Given the description of an element on the screen output the (x, y) to click on. 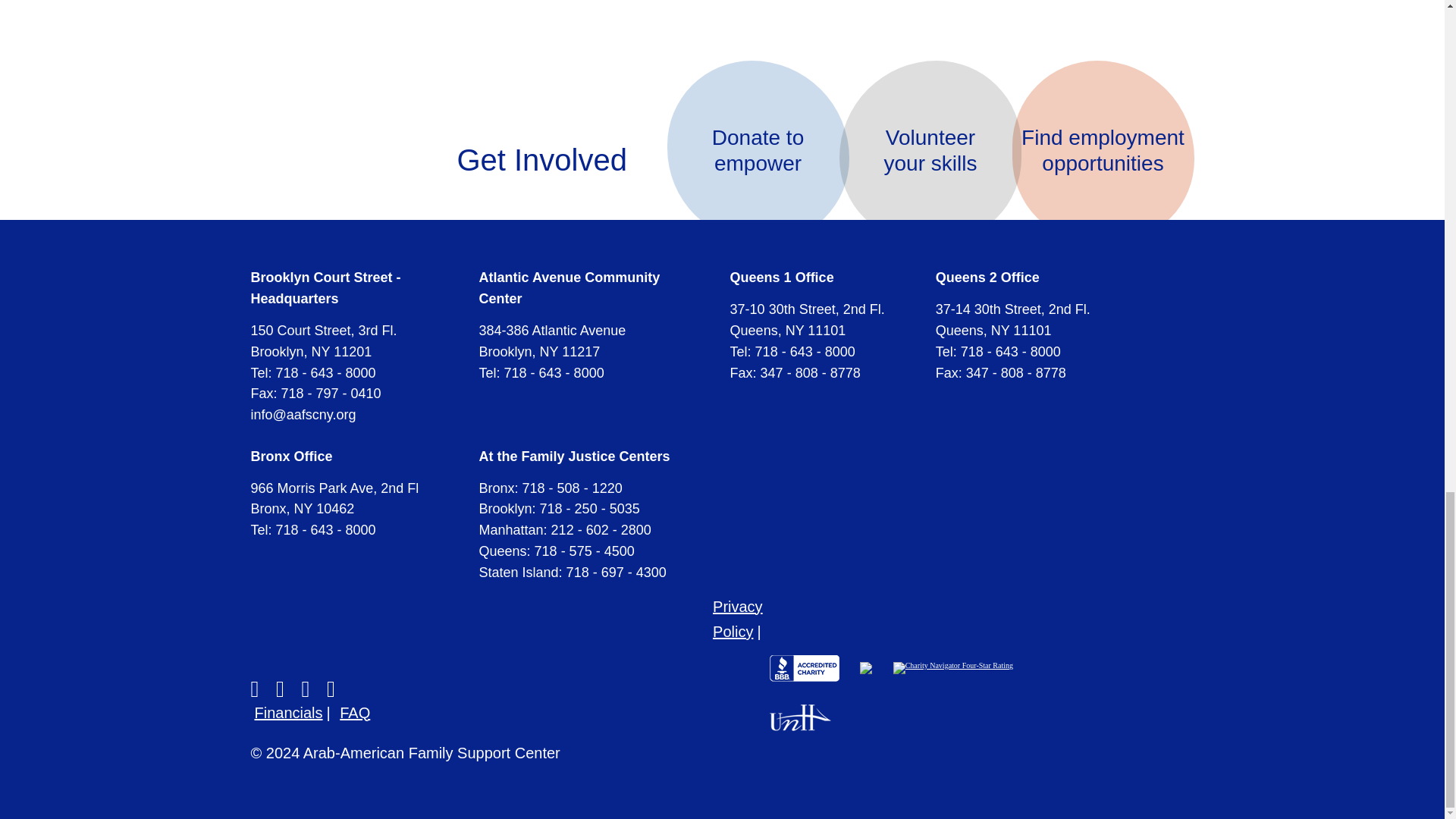
Donate to empower (757, 150)
Find employment opportunities (931, 150)
